Given the description of an element on the screen output the (x, y) to click on. 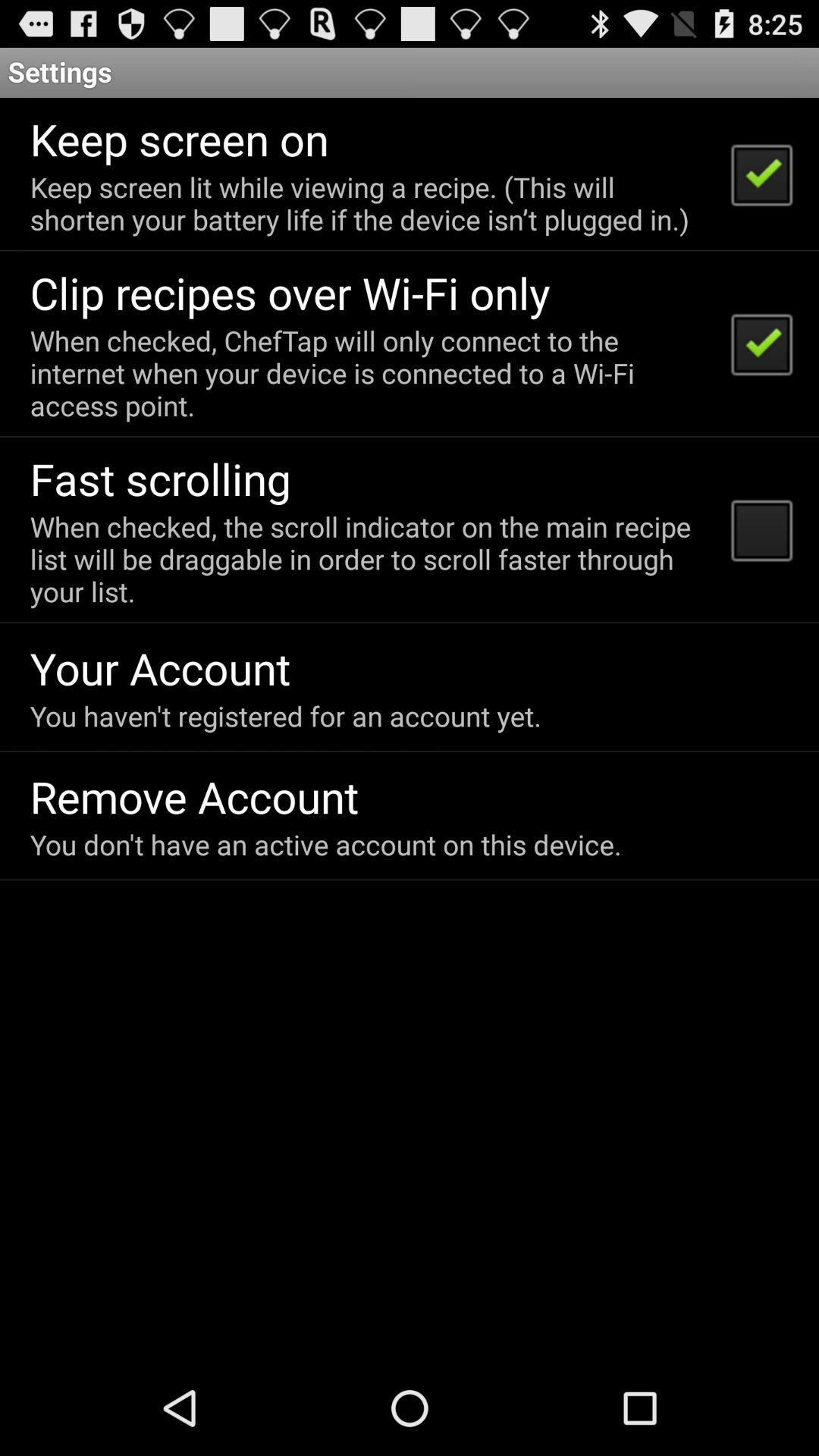
open app below the you haven t app (194, 796)
